Given the description of an element on the screen output the (x, y) to click on. 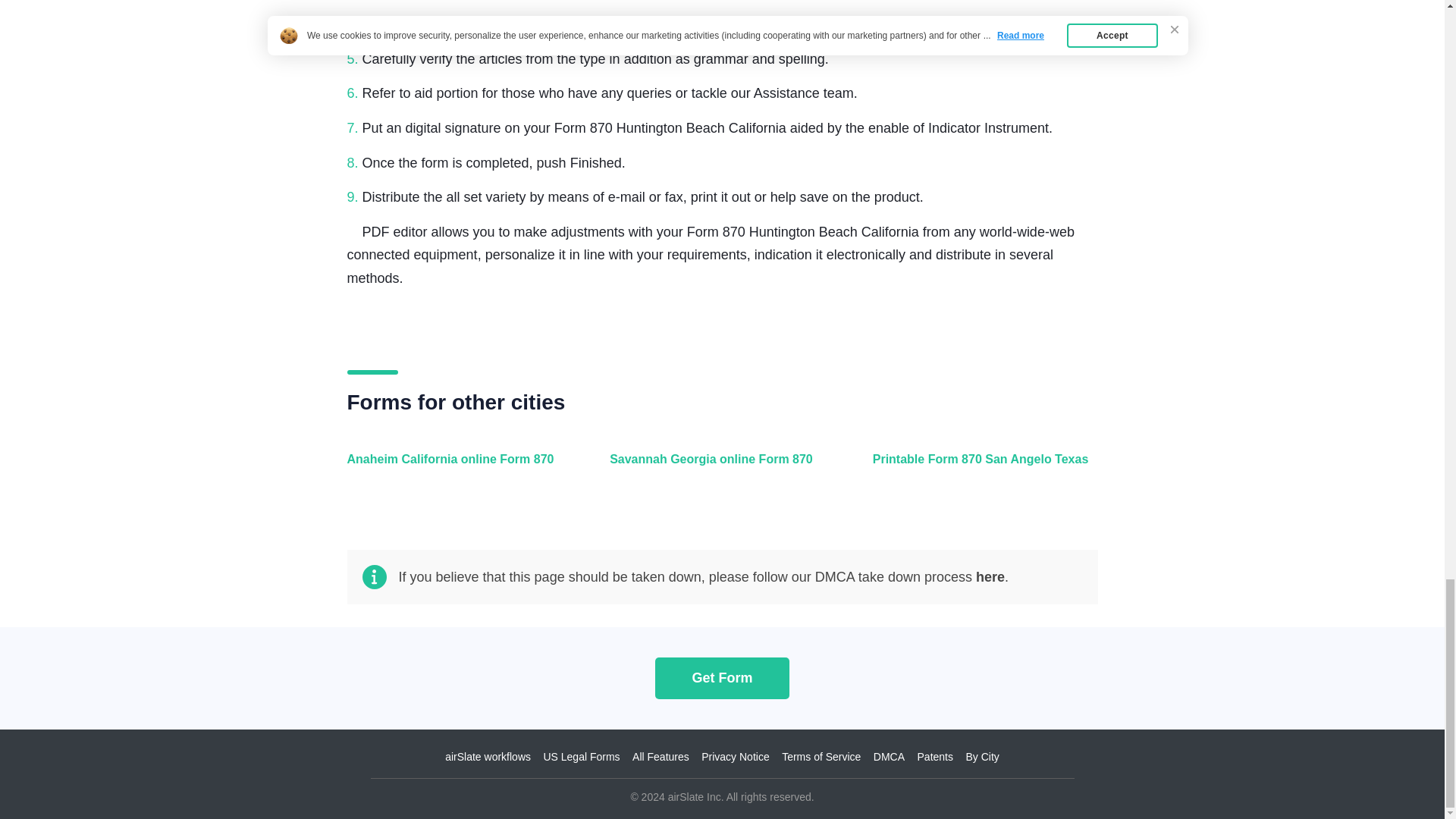
Get Form (722, 677)
Printable Form 870 San Angelo Texas (981, 467)
DMCA (888, 756)
US Legal Forms (581, 756)
Patents (935, 756)
By City (981, 756)
Privacy Notice (734, 756)
airSlate workflows (488, 756)
All Features (659, 756)
here (989, 576)
